Given the description of an element on the screen output the (x, y) to click on. 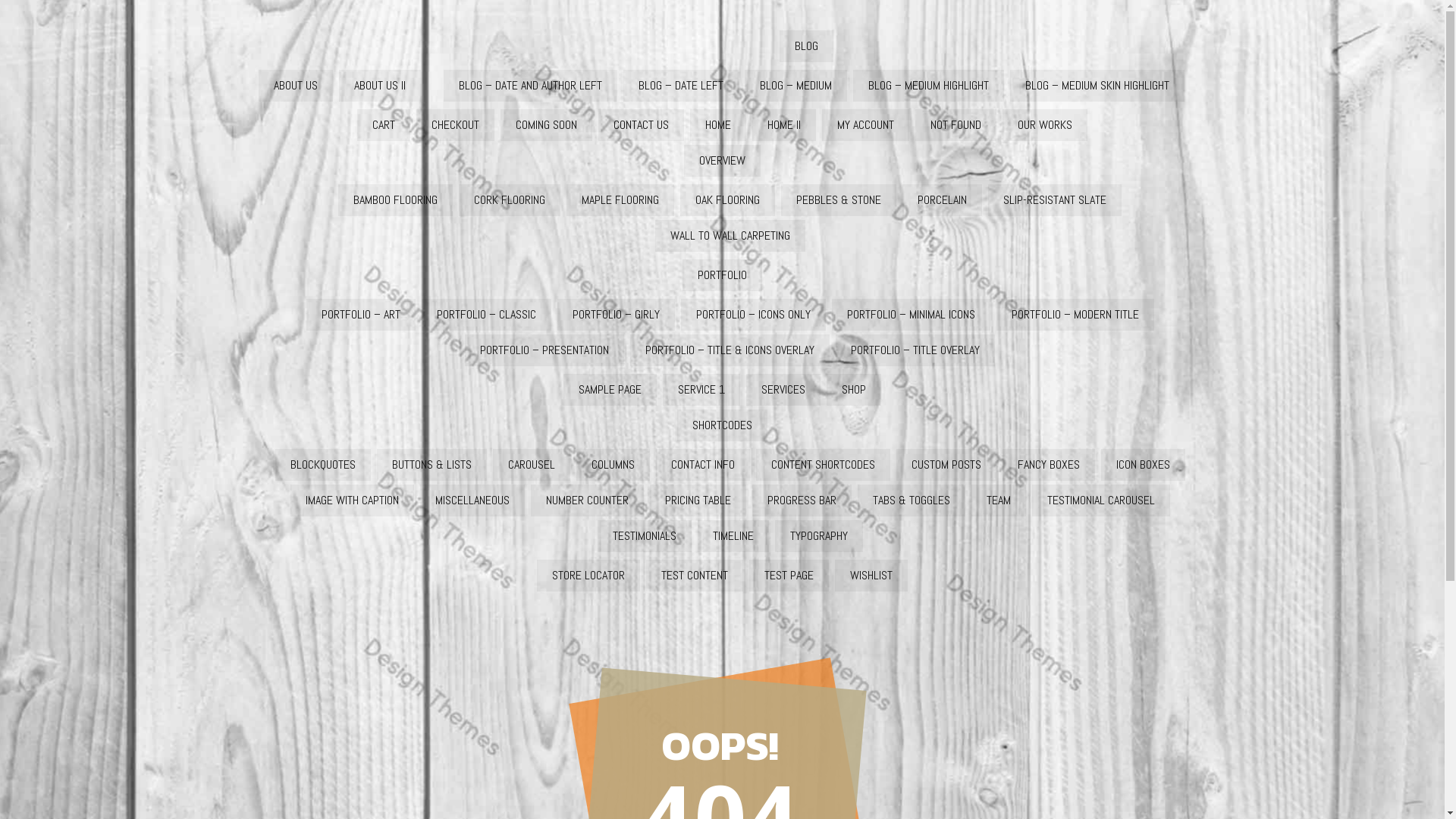
CART Element type: text (383, 125)
CAROUSEL Element type: text (531, 464)
CORK FLOORING Element type: text (509, 200)
COLUMNS Element type: text (612, 464)
ABOUT US Element type: text (295, 85)
SAMPLE PAGE Element type: text (609, 389)
CONTACT INFO Element type: text (702, 464)
CUSTOM POSTS Element type: text (946, 464)
PEBBLES & STONE Element type: text (838, 200)
HOME II Element type: text (783, 125)
SHORTCODES Element type: text (722, 425)
MY ACCOUNT Element type: text (865, 125)
SERVICE 1 Element type: text (701, 389)
SLIP-RESISTANT SLATE Element type: text (1054, 200)
COMING SOON Element type: text (546, 125)
PROGRESS BAR Element type: text (801, 500)
FANCY BOXES Element type: text (1048, 464)
PORCELAIN Element type: text (942, 200)
BLOCKQUOTES Element type: text (322, 464)
ABOUT US II Element type: text (379, 85)
ICON BOXES Element type: text (1143, 464)
PORTFOLIO Element type: text (722, 275)
CHECKOUT Element type: text (455, 125)
TESTIMONIALS Element type: text (644, 536)
TYPOGRAPHY Element type: text (818, 536)
OVERVIEW Element type: text (722, 160)
MAPLE FLOORING Element type: text (620, 200)
TEAM Element type: text (997, 500)
PRICING TABLE Element type: text (697, 500)
SERVICES Element type: text (783, 389)
TESTIMONIAL CAROUSEL Element type: text (1100, 500)
TABS & TOGGLES Element type: text (910, 500)
NUMBER COUNTER Element type: text (586, 500)
WISHLIST Element type: text (870, 575)
TIMELINE Element type: text (732, 536)
BLOG Element type: text (806, 46)
OUR WORKS Element type: text (1044, 125)
CONTENT SHORTCODES Element type: text (822, 464)
STORE LOCATOR Element type: text (588, 575)
OAK FLOORING Element type: text (727, 200)
IMAGE WITH CAPTION Element type: text (351, 500)
NOT FOUND Element type: text (955, 125)
SHOP Element type: text (853, 389)
HOME Element type: text (718, 125)
CONTACT US Element type: text (641, 125)
BAMBOO FLOORING Element type: text (395, 200)
MISCELLANEOUS Element type: text (472, 500)
TEST PAGE Element type: text (788, 575)
TEST CONTENT Element type: text (694, 575)
WALL TO WALL CARPETING Element type: text (730, 235)
BUTTONS & LISTS Element type: text (431, 464)
